Given the description of an element on the screen output the (x, y) to click on. 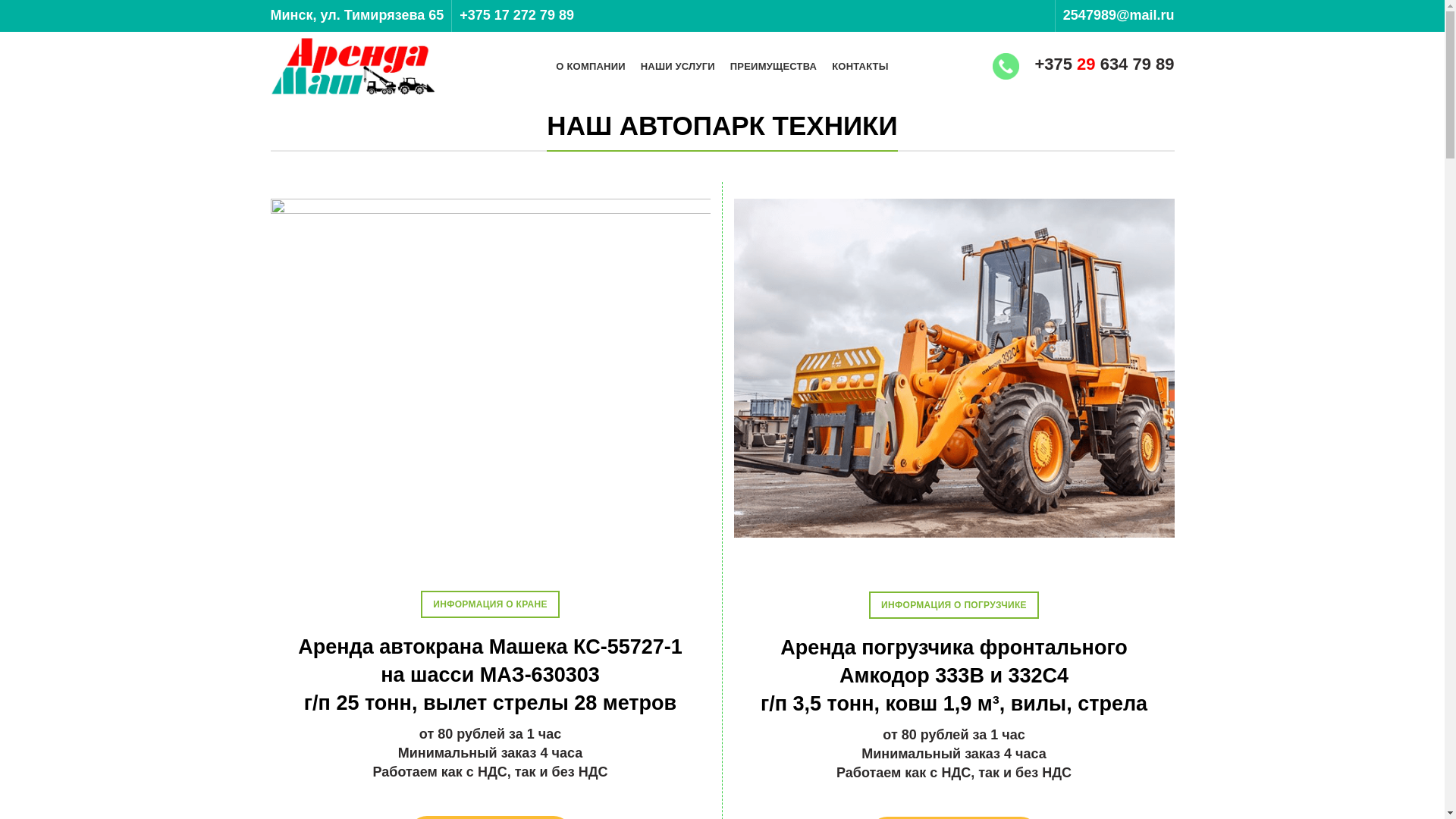
miscellaneous (1) Element type: hover (1005, 66)
